Given the description of an element on the screen output the (x, y) to click on. 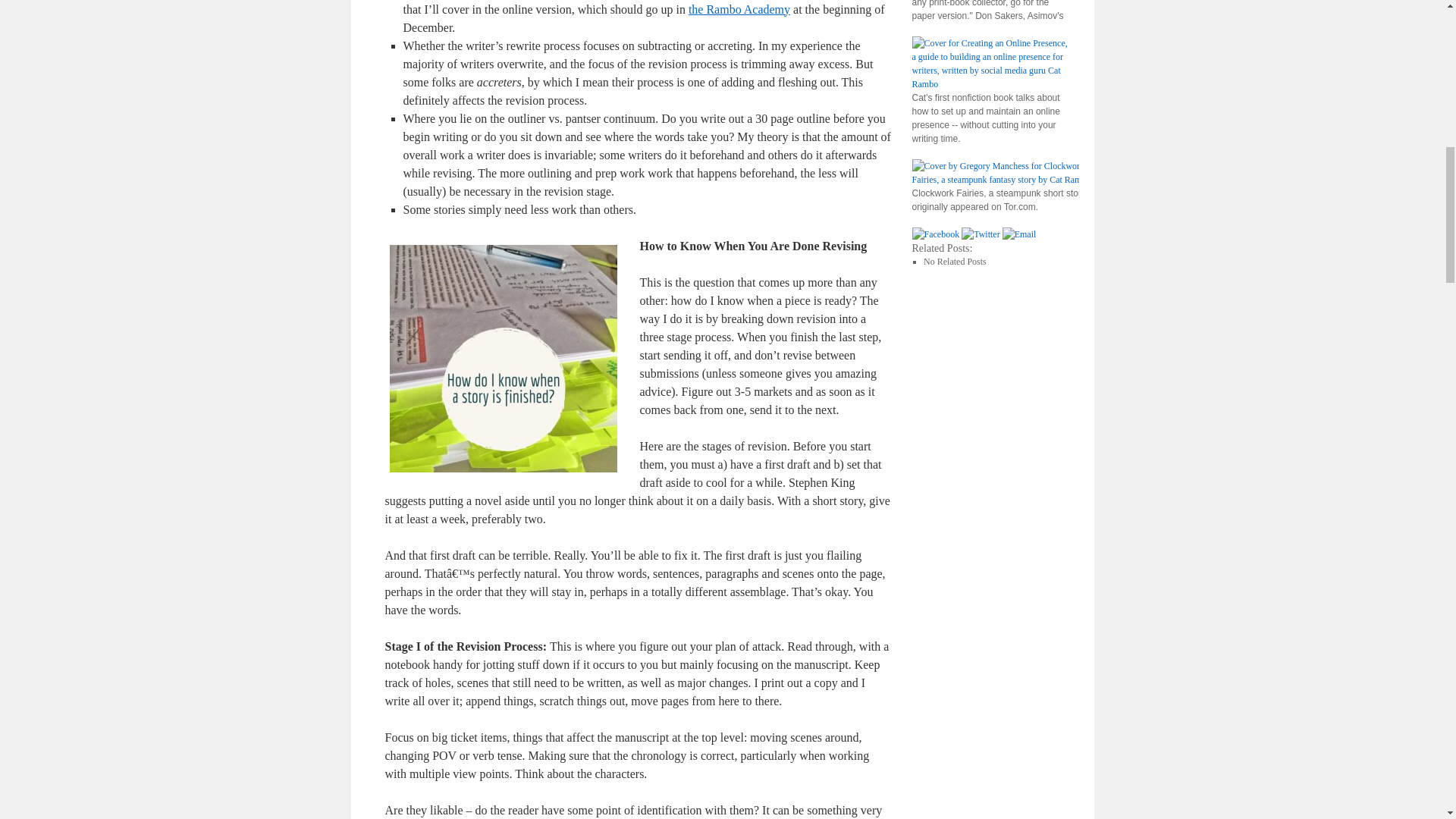
the Rambo Academy (739, 9)
